Given the description of an element on the screen output the (x, y) to click on. 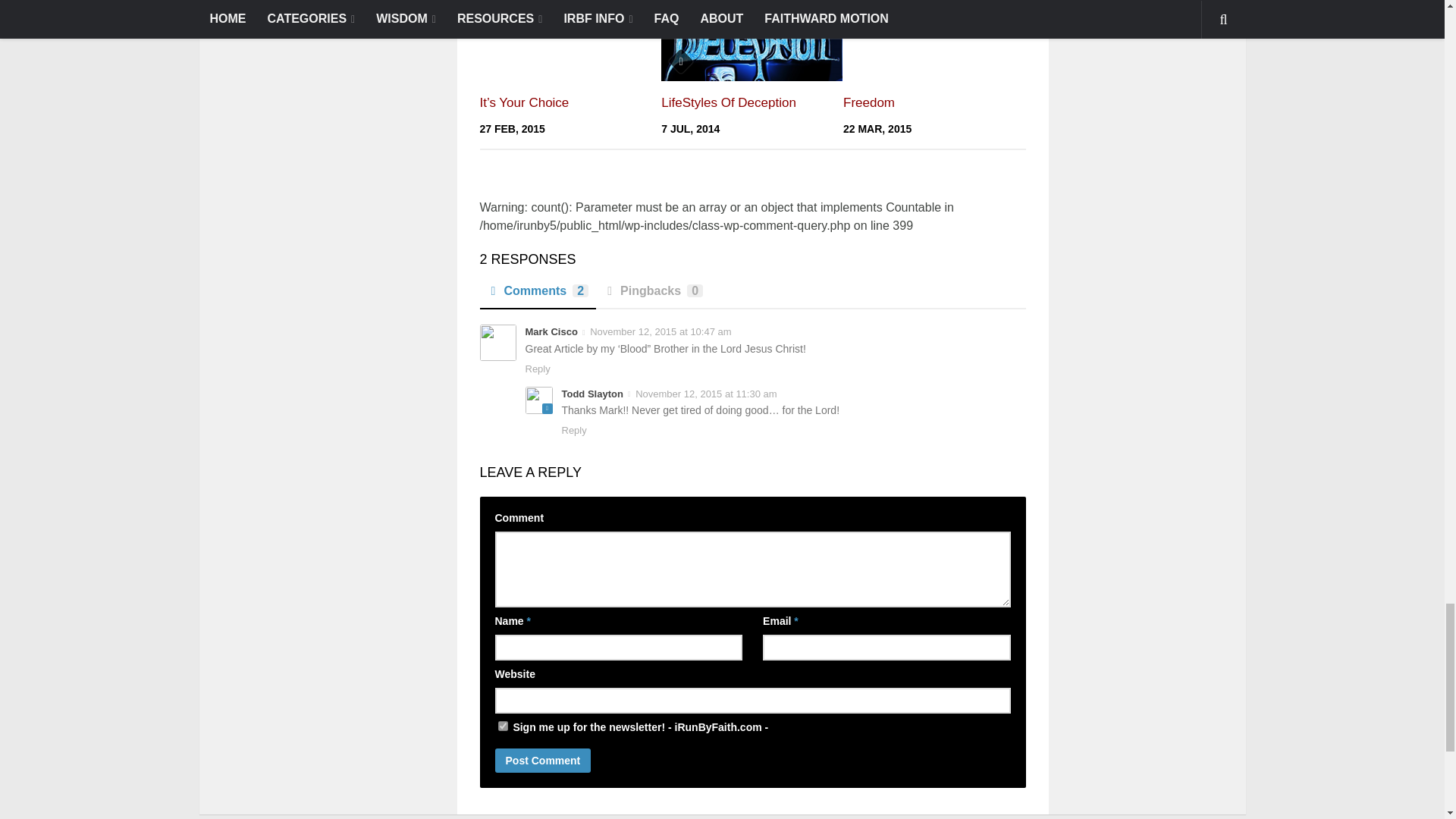
1 (501, 726)
Freedom (934, 40)
LifeStyles Of Deception (752, 40)
LifeStyles Of Deception (728, 102)
Post Comment (543, 760)
Freedom (869, 102)
